Given the description of an element on the screen output the (x, y) to click on. 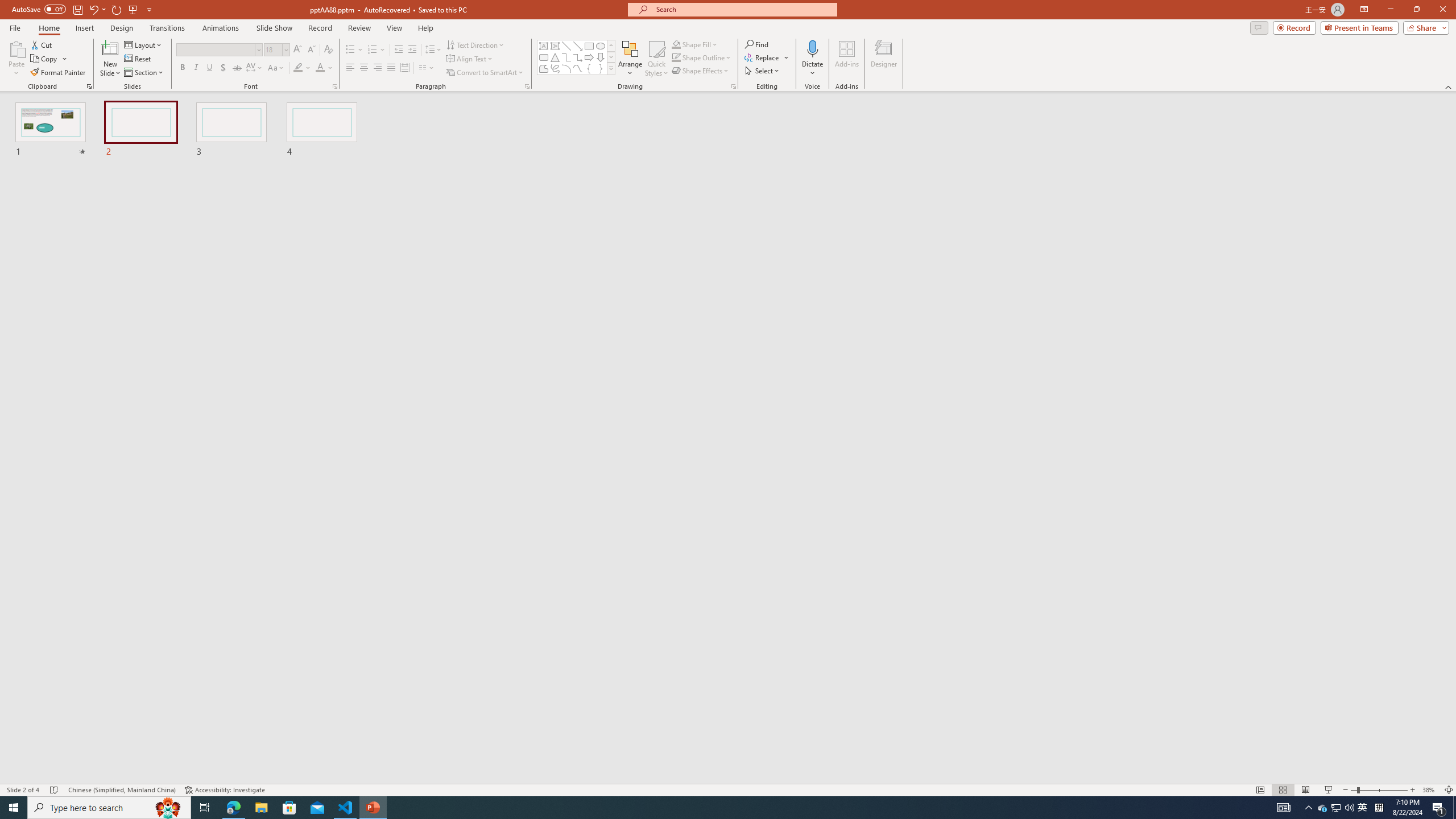
Zoom 38% (1430, 790)
